Given the description of an element on the screen output the (x, y) to click on. 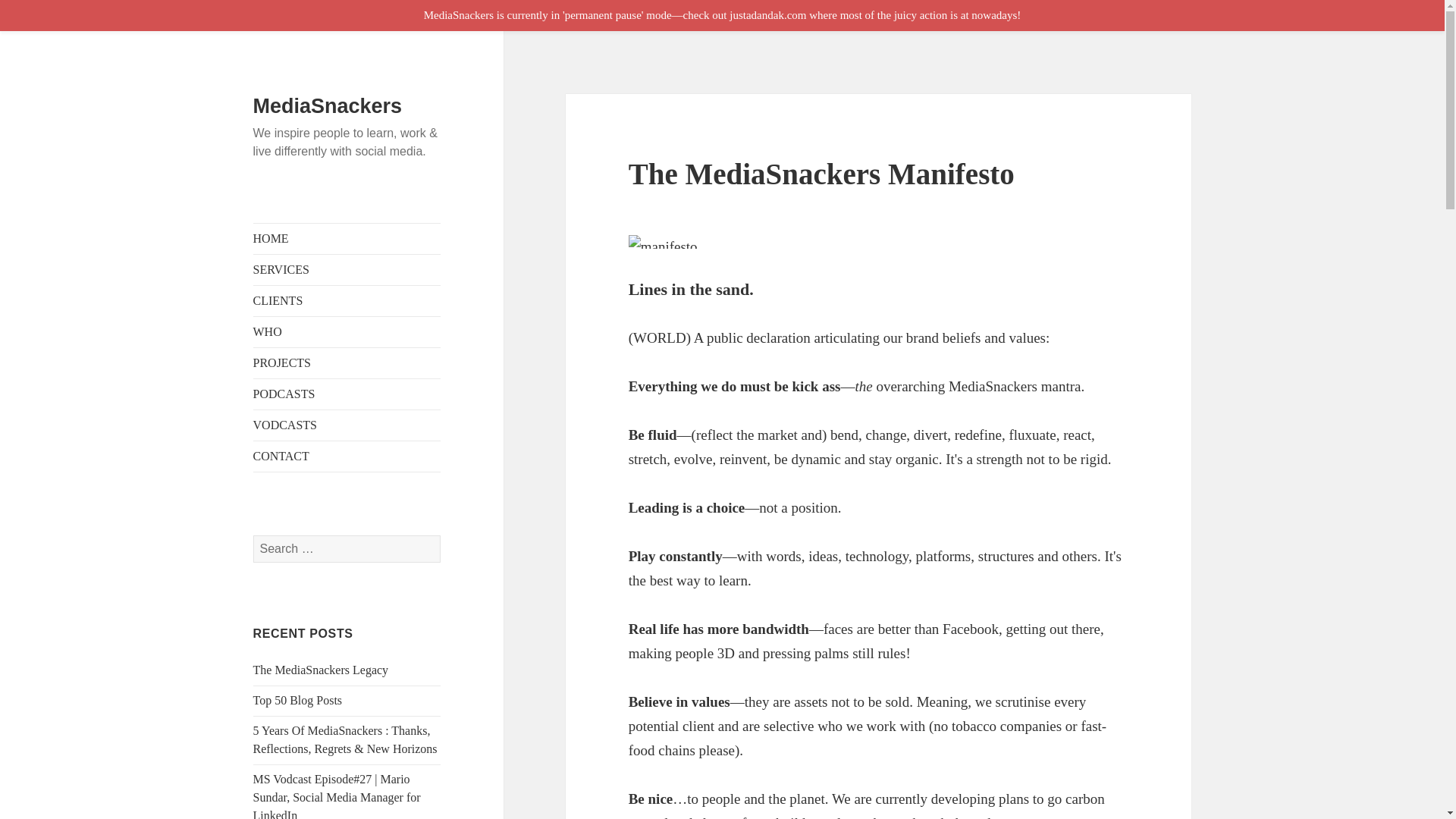
WHO (347, 331)
SERVICES (347, 269)
The MediaSnackers Legacy (320, 669)
Top 50 Blog Posts (297, 699)
PROJECTS (347, 363)
MediaSnackers (328, 106)
CONTACT (347, 456)
PODCASTS (347, 394)
VODCASTS (347, 425)
CLIENTS (347, 300)
HOME (347, 238)
